Given the description of an element on the screen output the (x, y) to click on. 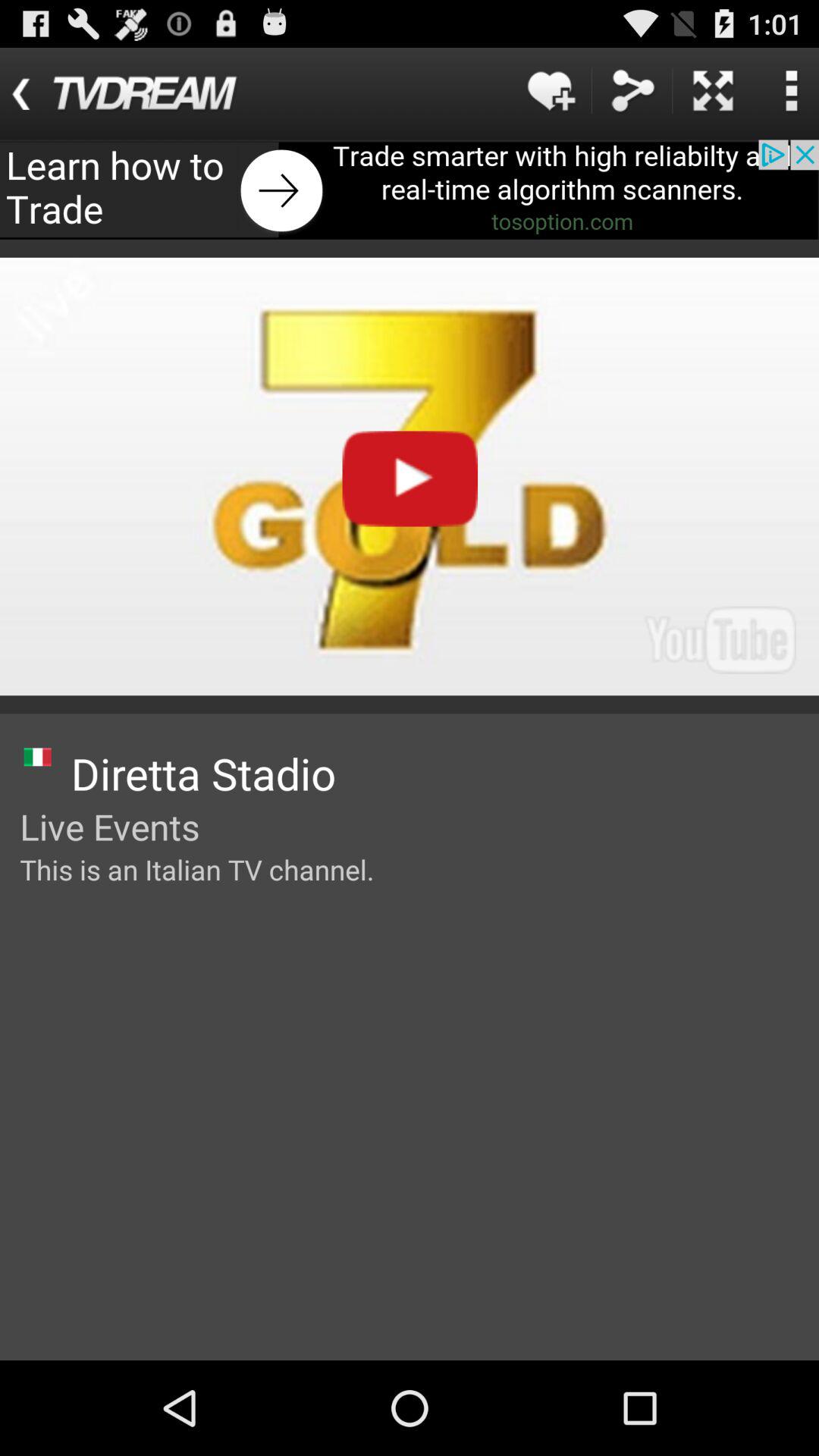
rotate button (712, 90)
